Given the description of an element on the screen output the (x, y) to click on. 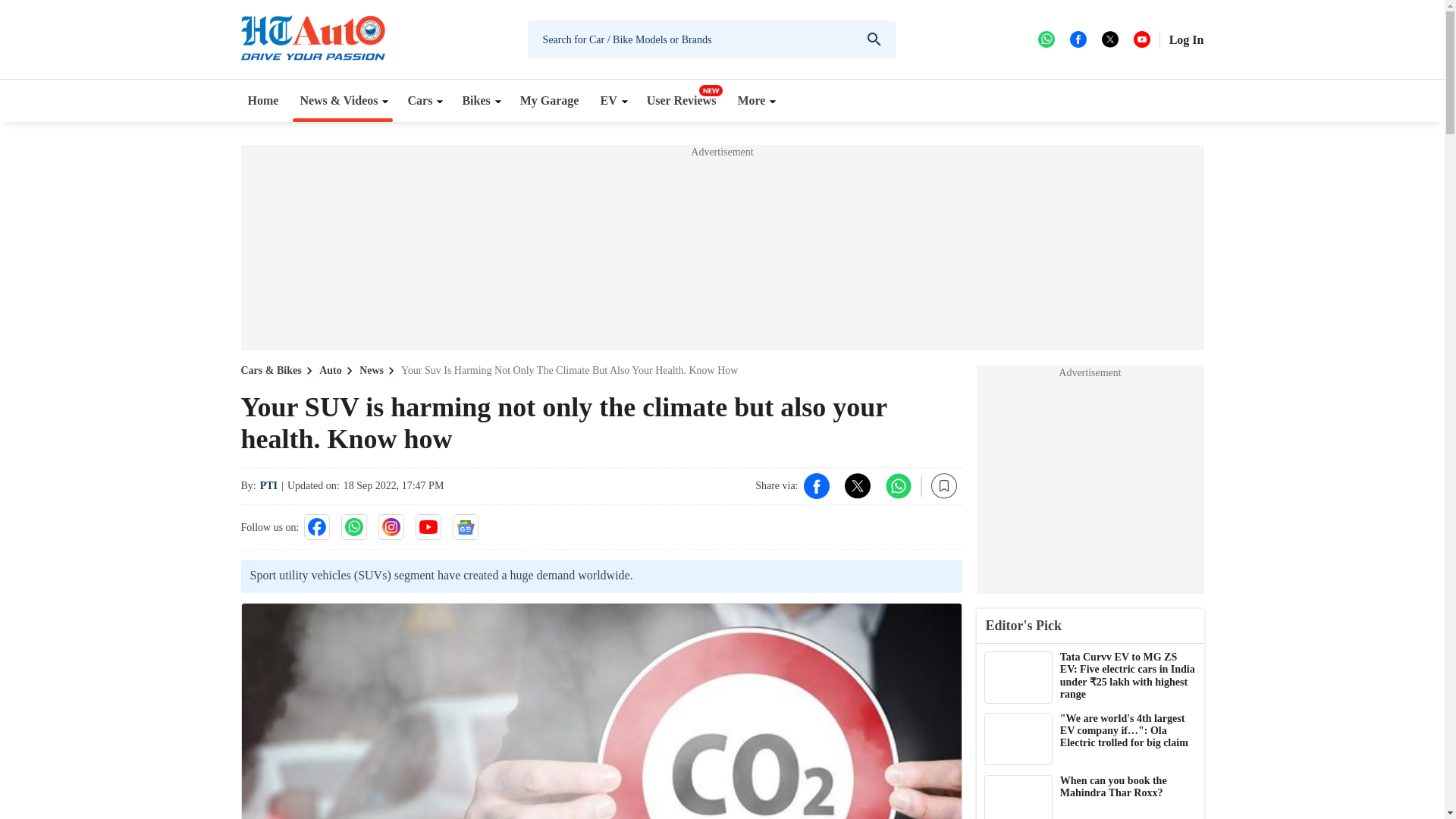
Log In (1186, 39)
My Garage (549, 100)
EV (611, 100)
Facebook Share (816, 485)
Bikes (479, 100)
Tweet (857, 485)
Cars (423, 100)
Home (263, 100)
